Given the description of an element on the screen output the (x, y) to click on. 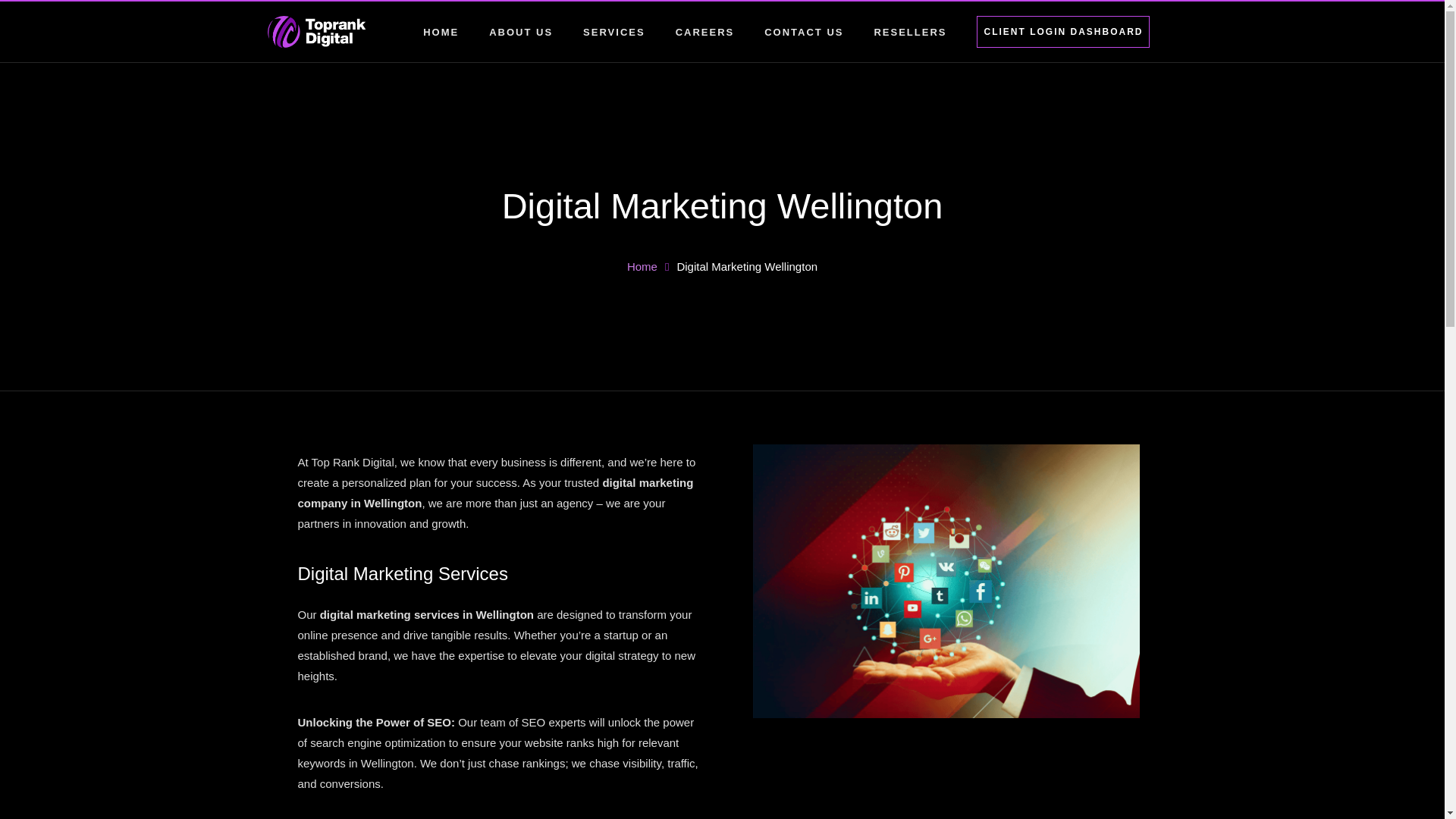
Digital Marketing Wellington (675, 31)
CONTACT US (721, 208)
ABOUT US (818, 31)
HOME (536, 31)
SERVICES (456, 31)
CAREERS (629, 31)
RESELLERS (720, 31)
HomeDigital Marketing Wellington (924, 31)
CLIENT LOGIN DASHBOARD (721, 266)
CLIENT LOGIN DASHBOARD (1071, 31)
Home (1063, 31)
Digital Marketing Services (642, 266)
